Given the description of an element on the screen output the (x, y) to click on. 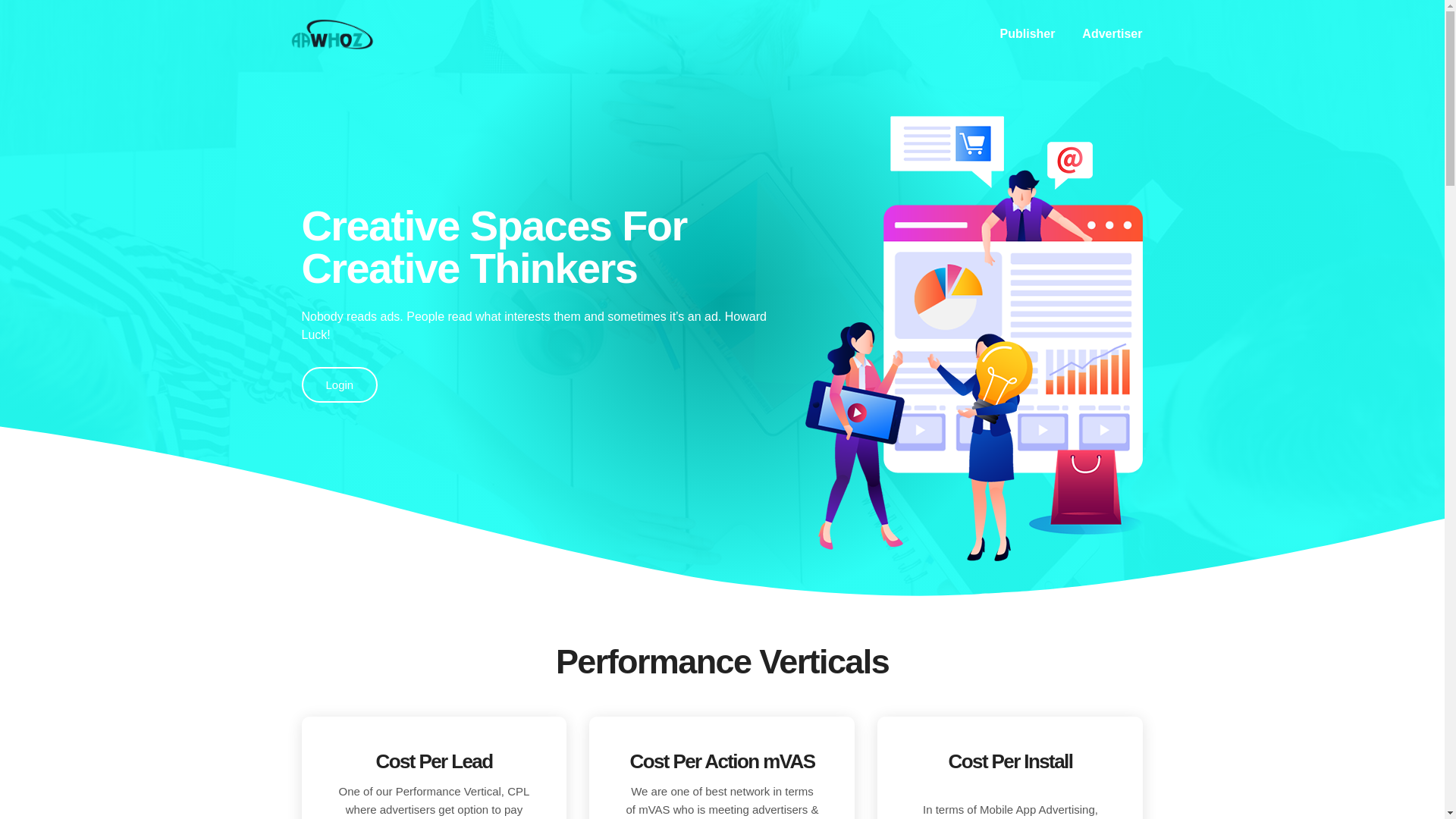
Publisher (1027, 33)
Login (339, 384)
Advertiser (1112, 33)
